Given the description of an element on the screen output the (x, y) to click on. 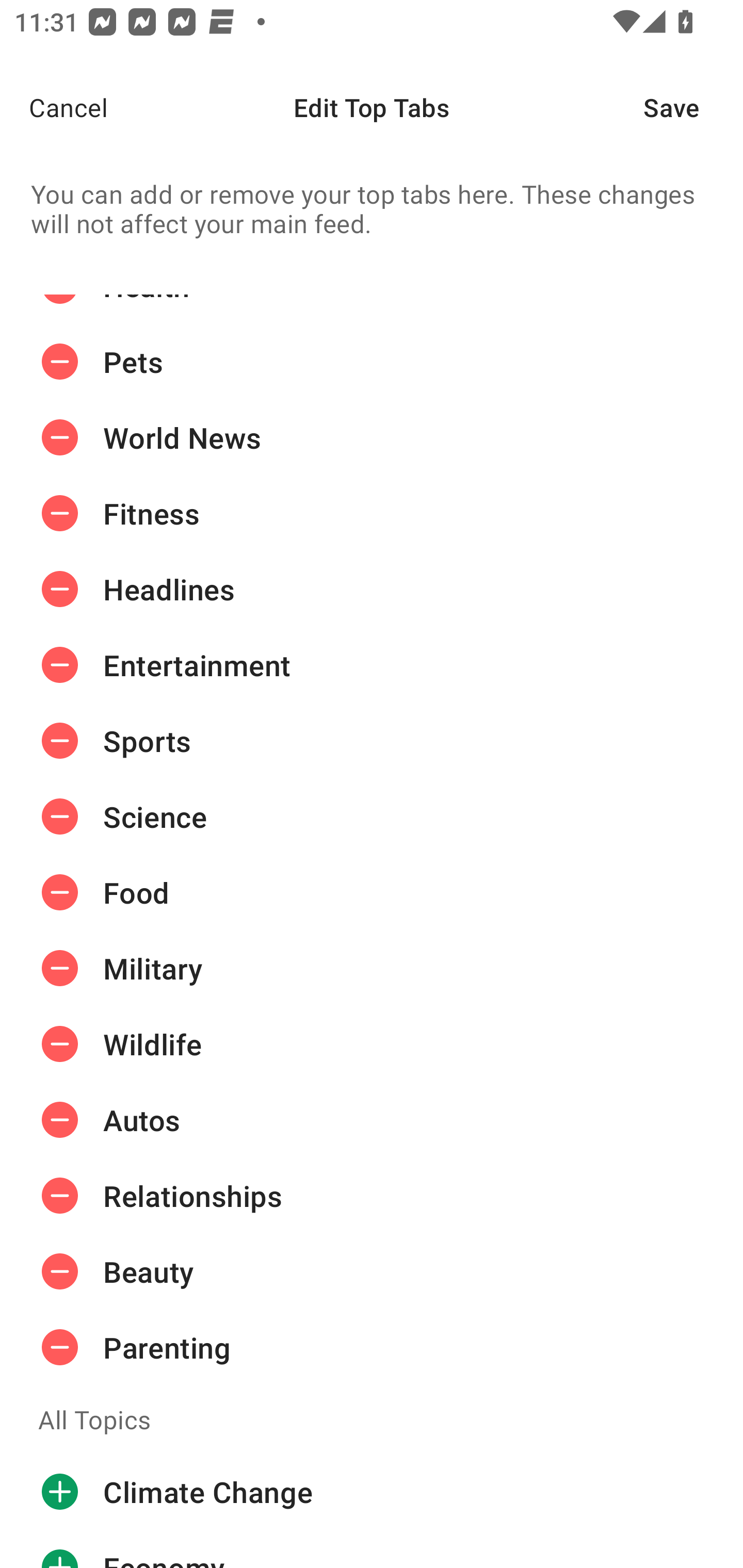
Cancel (53, 106)
Save (693, 106)
Pets (371, 361)
World News (371, 437)
Fitness (371, 513)
Headlines (371, 589)
Entertainment (371, 664)
Sports (371, 740)
Science (371, 816)
Food (371, 891)
Military (371, 967)
Wildlife (371, 1043)
Autos (371, 1119)
Relationships (371, 1195)
Beauty (371, 1271)
Parenting (371, 1347)
Climate Change (371, 1491)
